Given the description of an element on the screen output the (x, y) to click on. 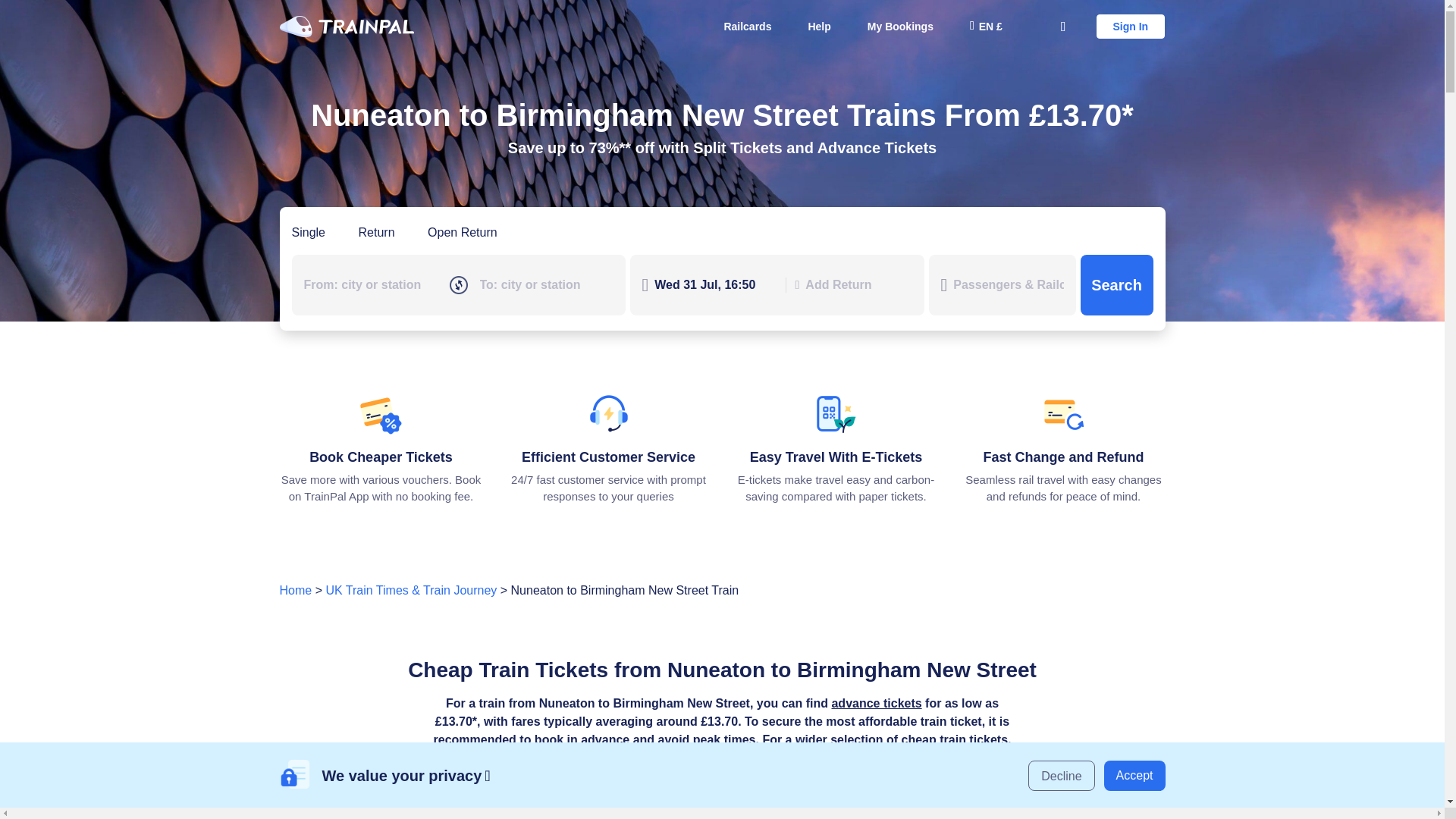
Wed 31 Jul, 16:50 (714, 284)
Help (818, 26)
My Bookings (900, 26)
Sign In (1131, 26)
Railcards (747, 26)
